Given the description of an element on the screen output the (x, y) to click on. 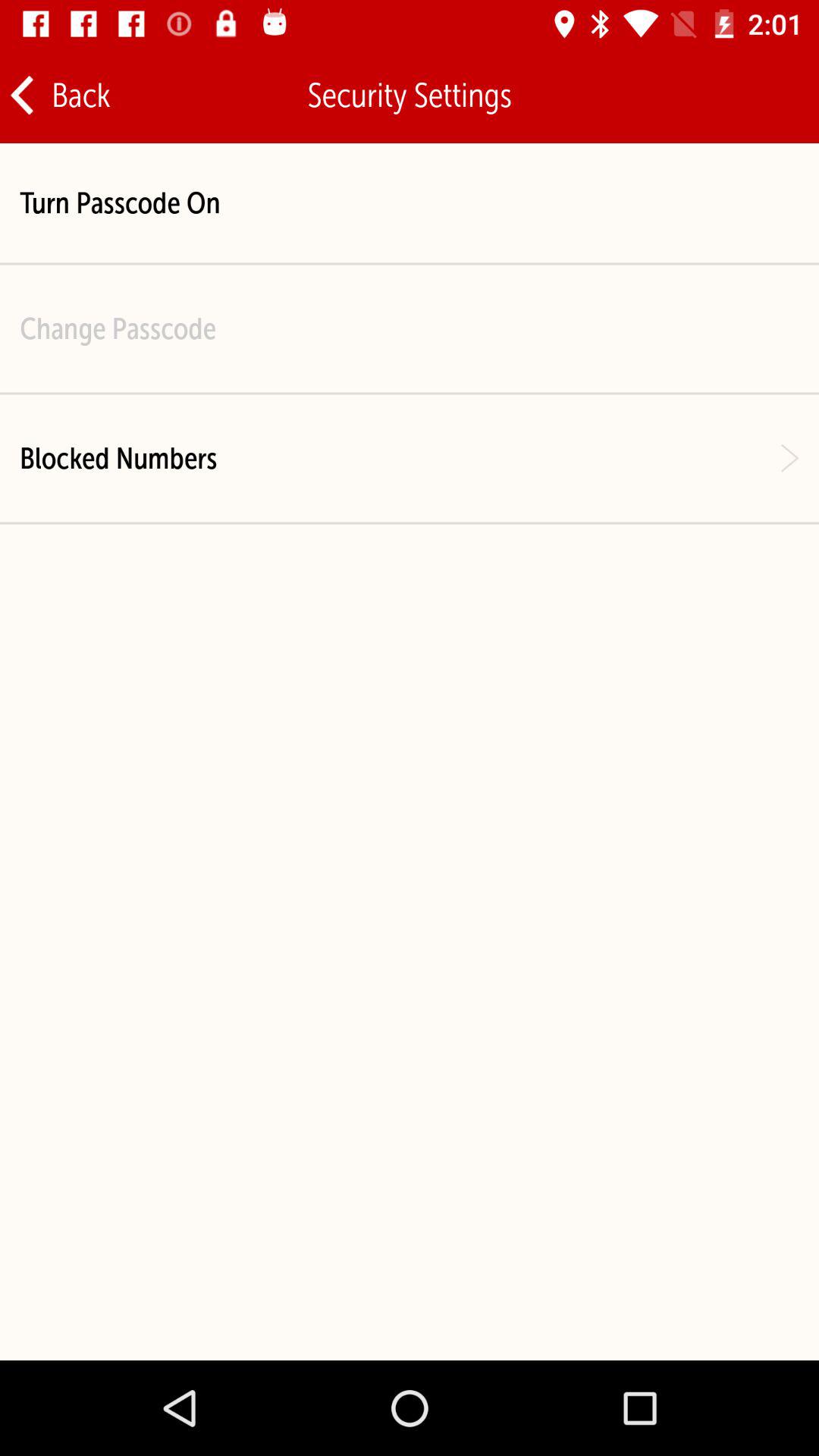
select the icon to the right of security settings icon (759, 95)
